Given the description of an element on the screen output the (x, y) to click on. 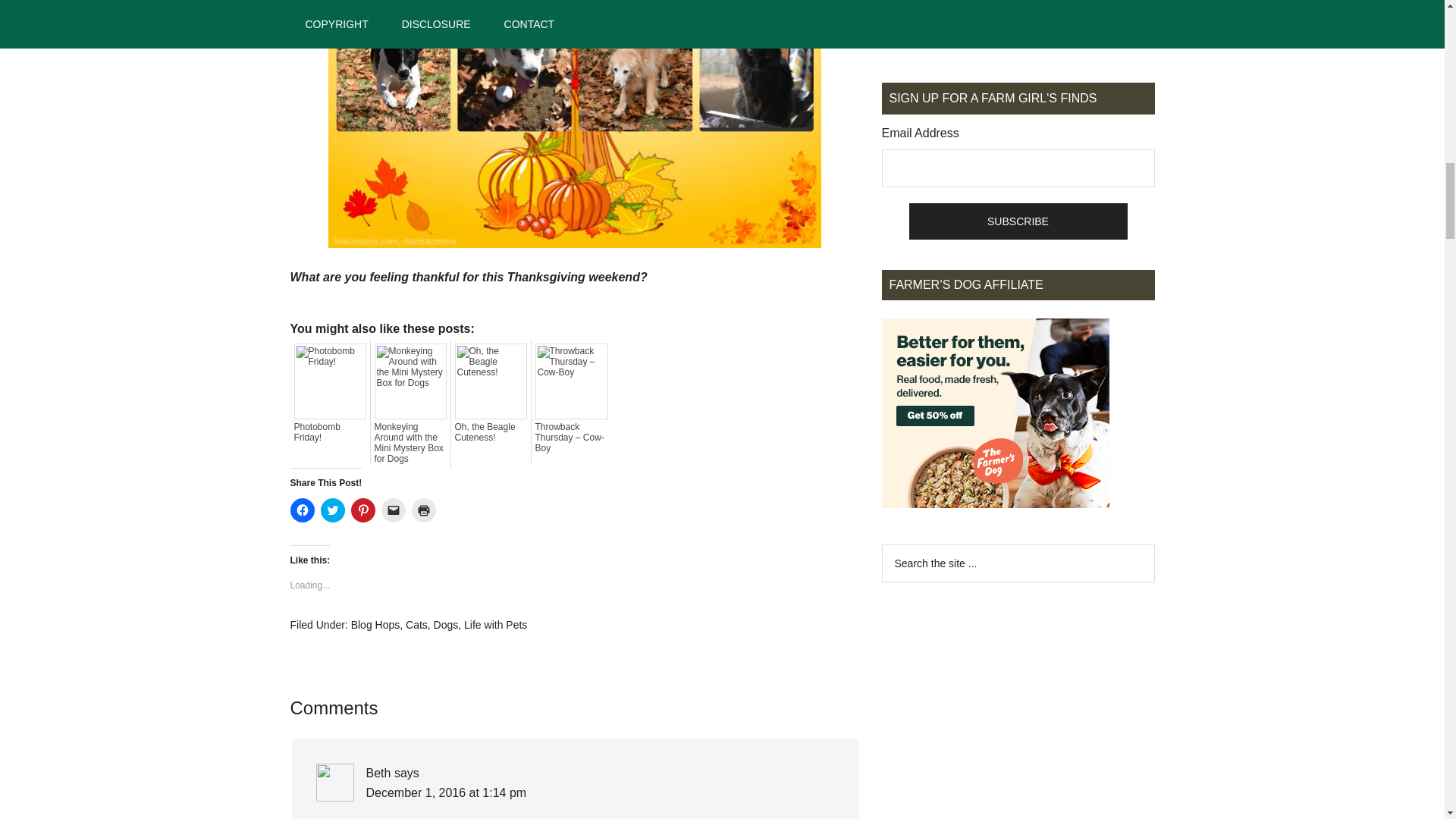
Click to share on Facebook (301, 509)
Click to print (422, 509)
Subscribe (1017, 221)
Blog Hops (375, 624)
Dogs (445, 624)
Photobomb Friday! (330, 432)
Oh, the Beagle Cuteness! (490, 432)
Click to share on Twitter (331, 509)
Life with Pets (495, 624)
Monkeying Around with the Mini Mystery Box for Dogs (410, 442)
Click to share on Pinterest (362, 509)
Click to email a link to a friend (392, 509)
Cats (417, 624)
